Given the description of an element on the screen output the (x, y) to click on. 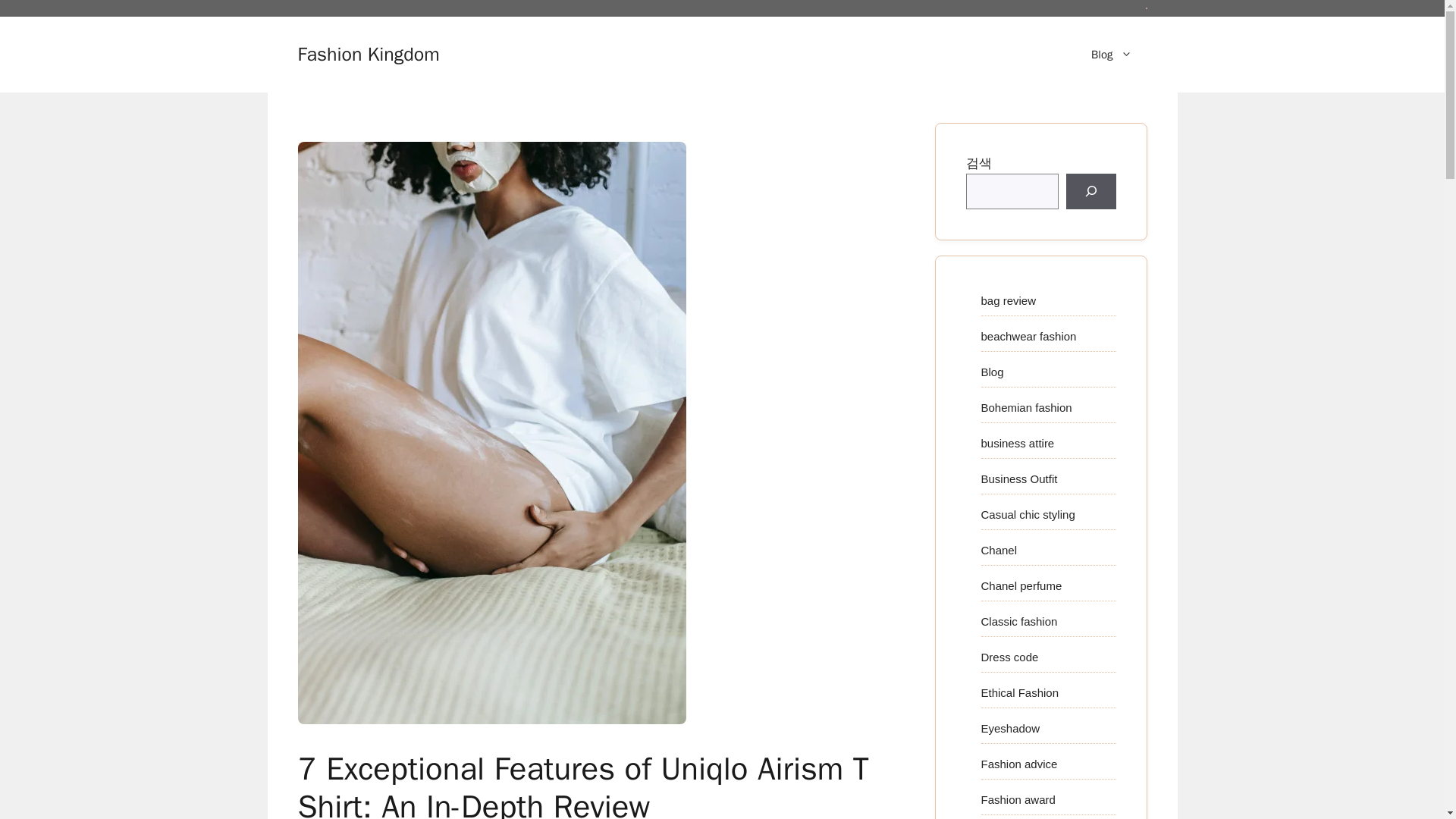
beachwear fashion (1029, 336)
Fashion Kingdom (368, 54)
bag review (1008, 300)
Blog (1111, 53)
